Given the description of an element on the screen output the (x, y) to click on. 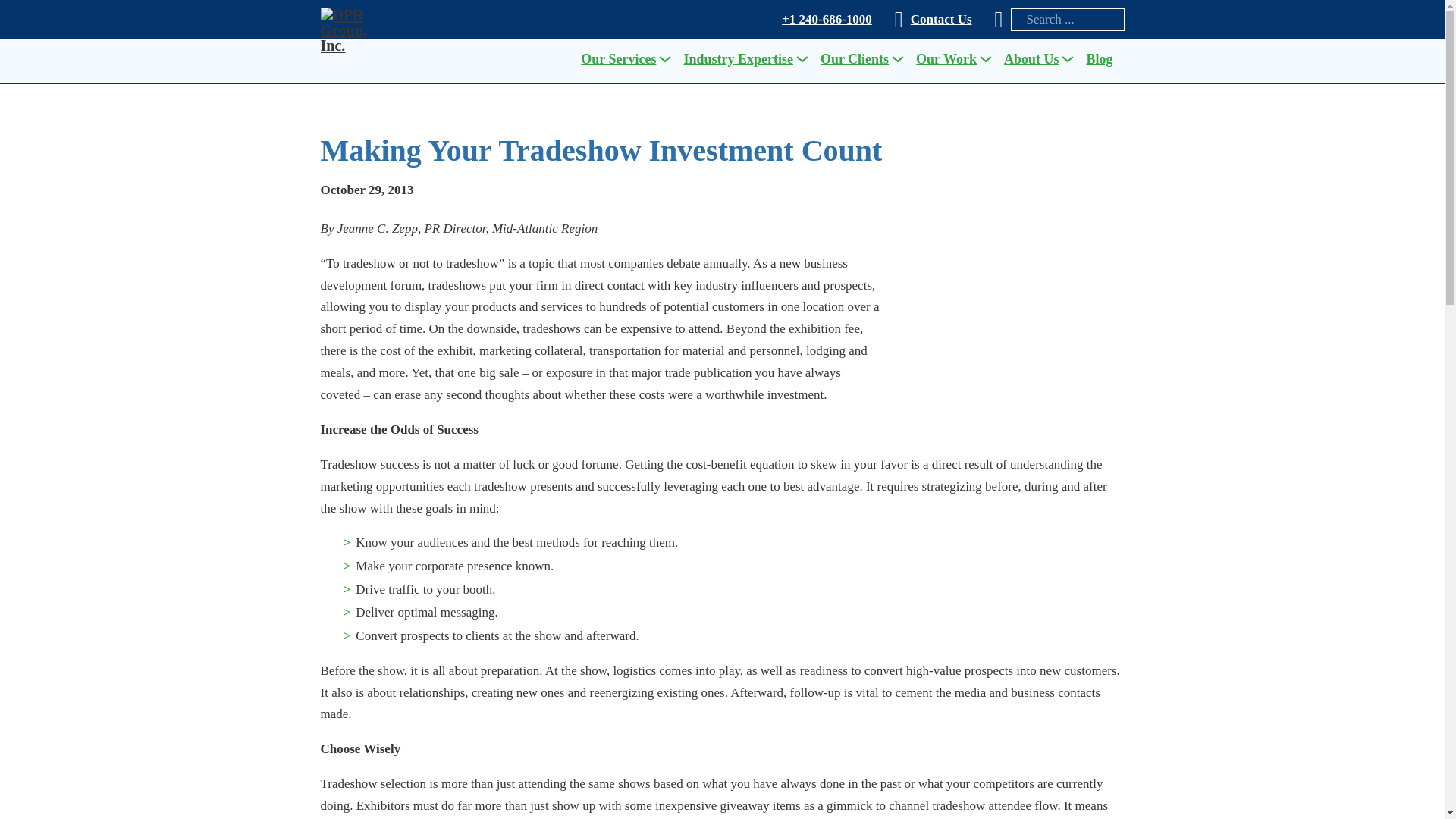
Our Work (945, 59)
Our Clients (854, 59)
About Us (1031, 59)
Our Services (618, 59)
Contact Us (941, 19)
Industry Expertise (737, 59)
Trade-Show-word-cloud (1010, 323)
